Given the description of an element on the screen output the (x, y) to click on. 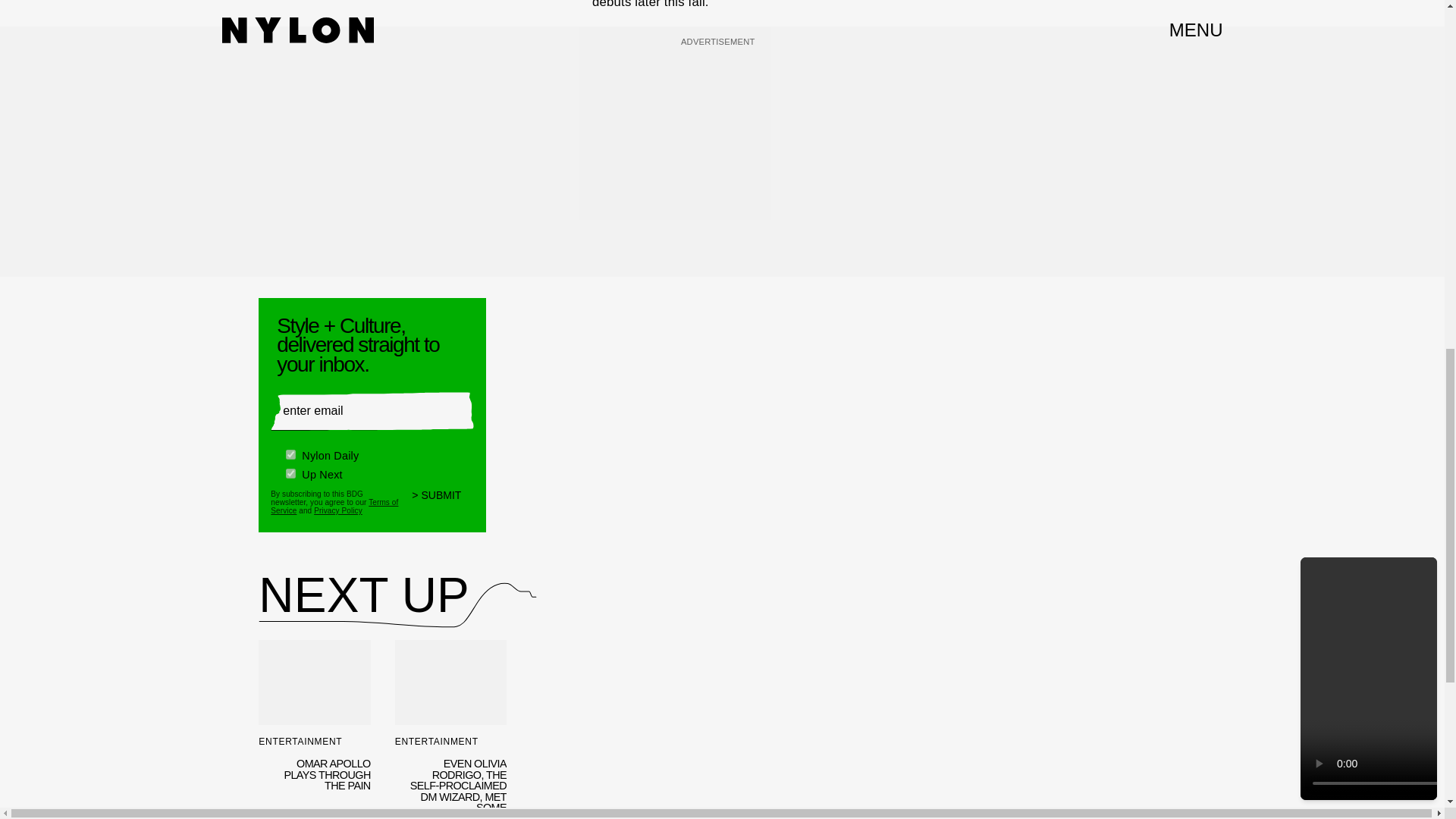
Terms of Service (333, 499)
SUBMIT (443, 495)
Privacy Policy (338, 505)
